Given the description of an element on the screen output the (x, y) to click on. 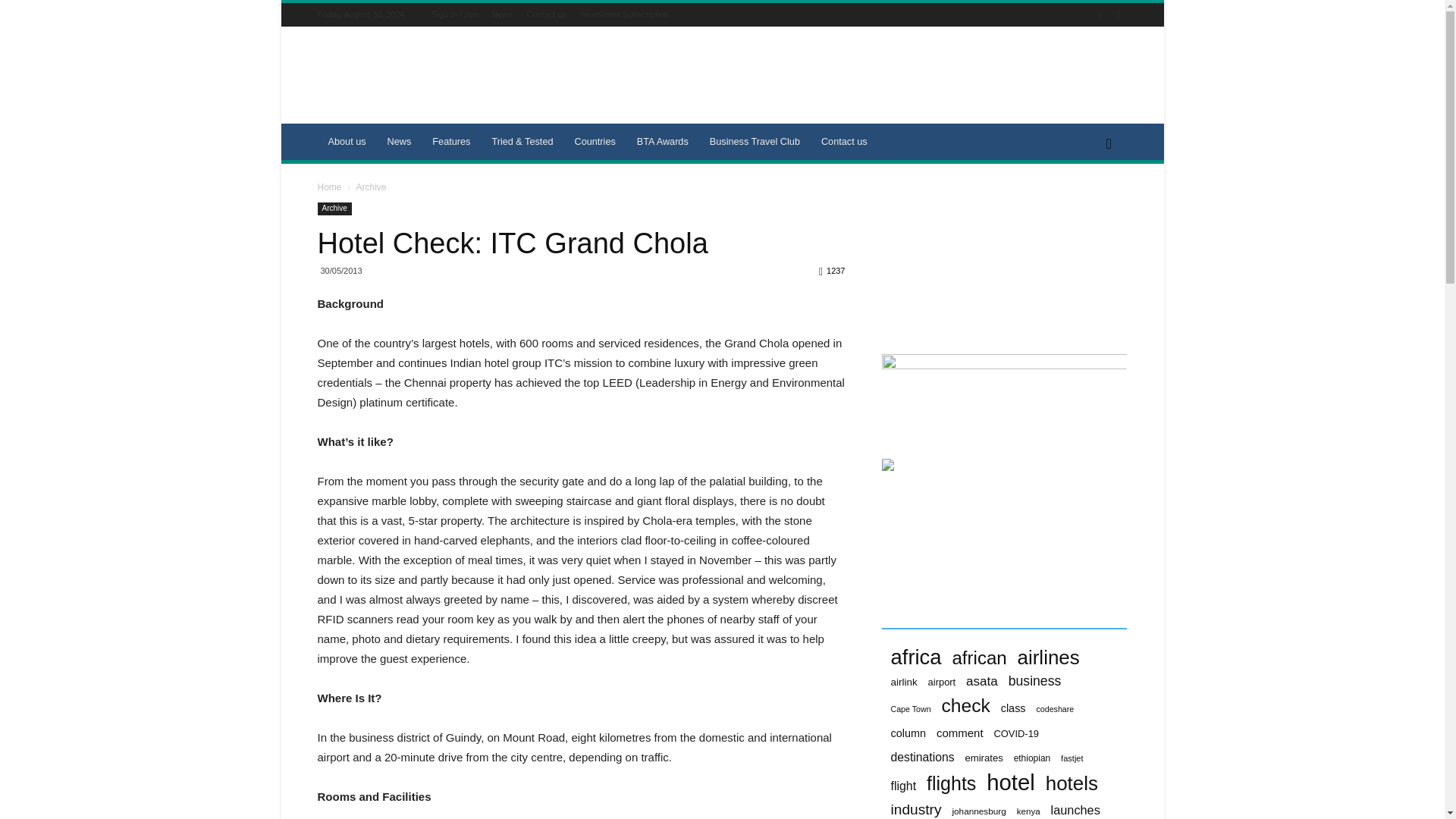
View all posts in Archive (370, 186)
YouTube video player (994, 259)
Facebook (1099, 13)
News (399, 141)
Twitter (1117, 13)
About us (346, 141)
Newsletter Subscription (624, 13)
Contact us (545, 13)
News (502, 13)
